Given the description of an element on the screen output the (x, y) to click on. 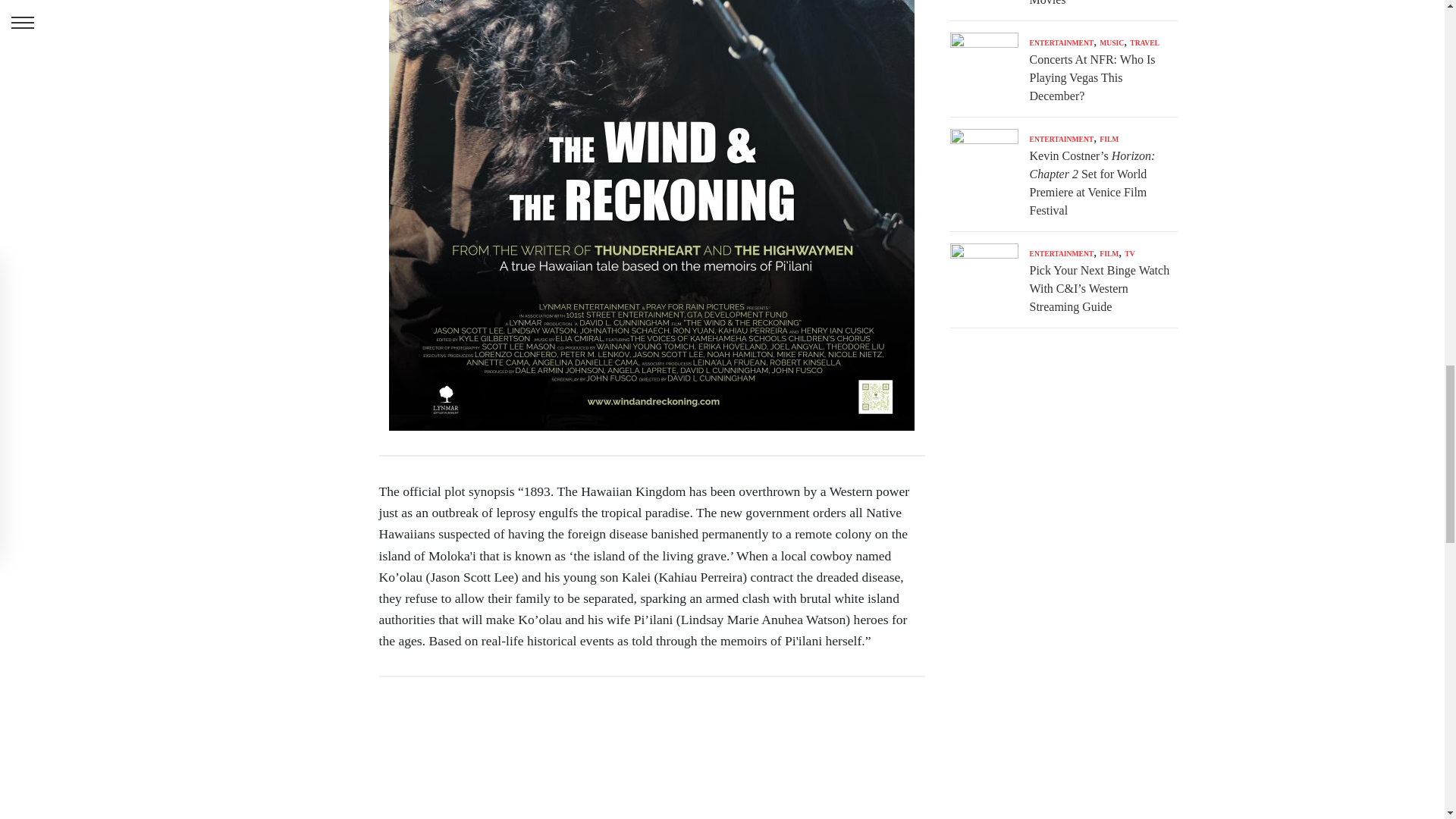
YouTube video player (651, 760)
